Given the description of an element on the screen output the (x, y) to click on. 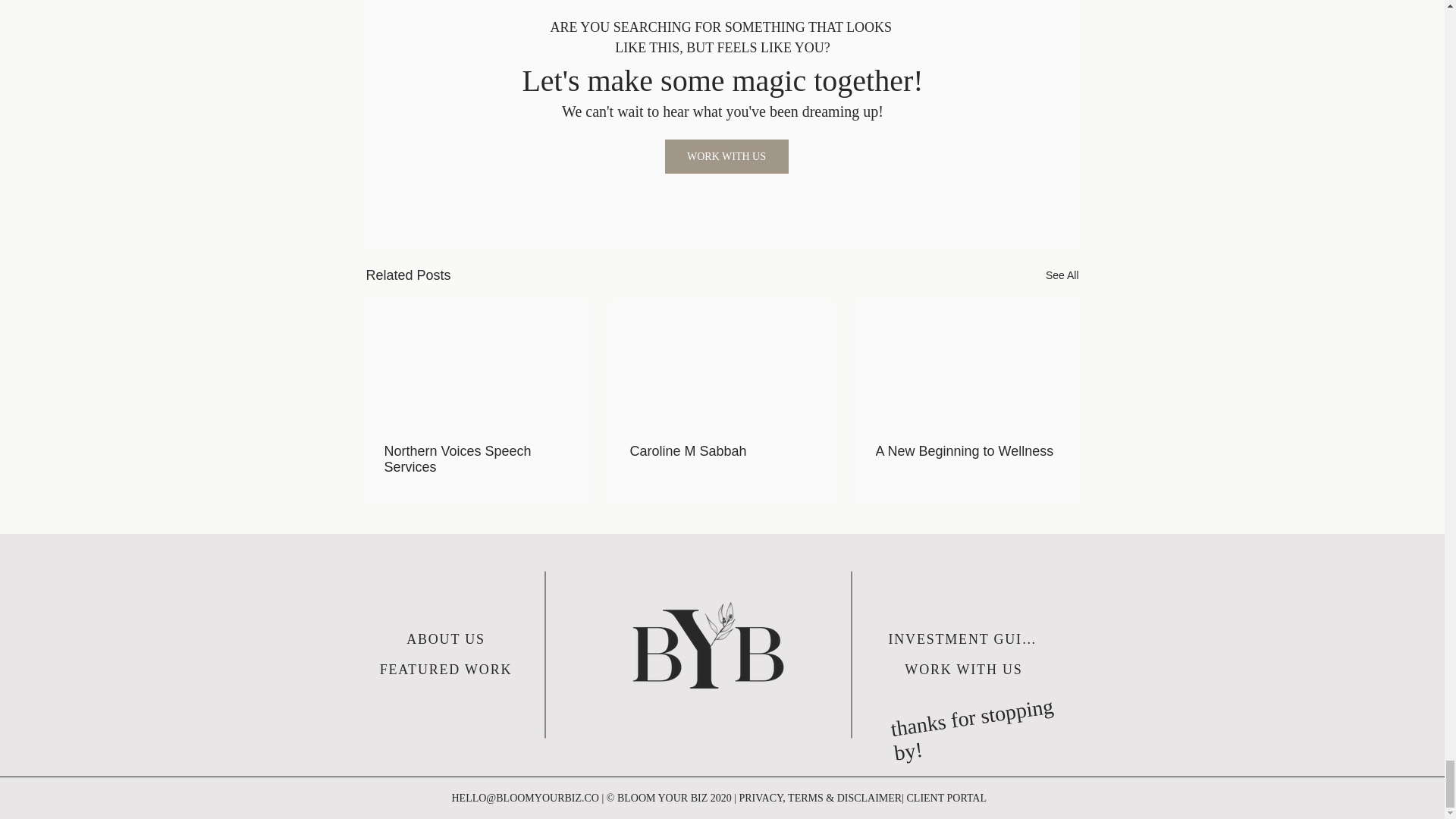
WORK WITH US (965, 669)
FEATURED WORK (446, 669)
Northern Voices Speech Services (475, 459)
See All (1061, 275)
INVESTMENT GUIDE (965, 639)
ABOUT US (446, 639)
Caroline M Sabbah (720, 451)
A New Beginning to Wellness (966, 451)
WORK WITH US (725, 156)
